Given the description of an element on the screen output the (x, y) to click on. 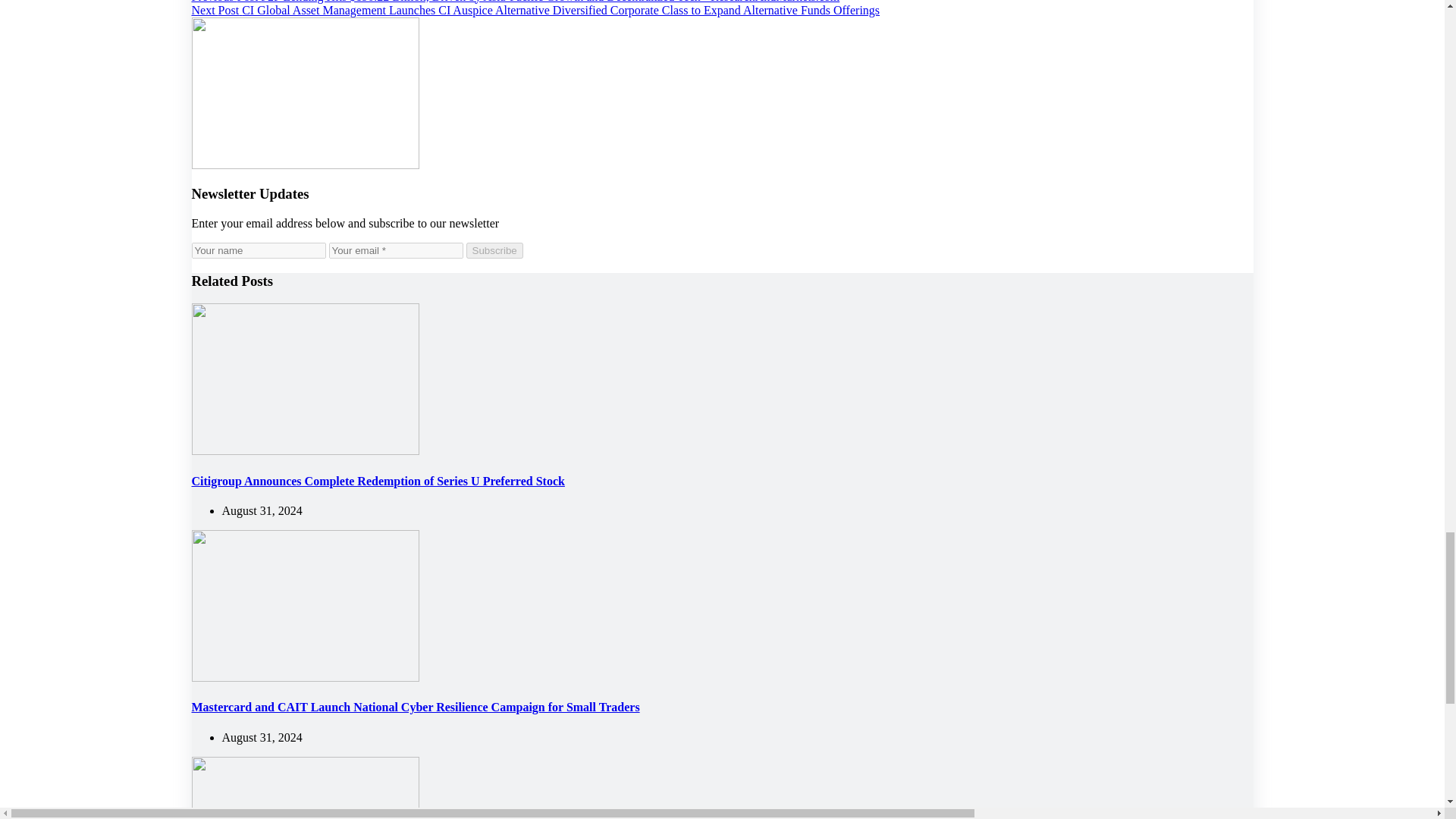
Subscribe (493, 250)
